Given the description of an element on the screen output the (x, y) to click on. 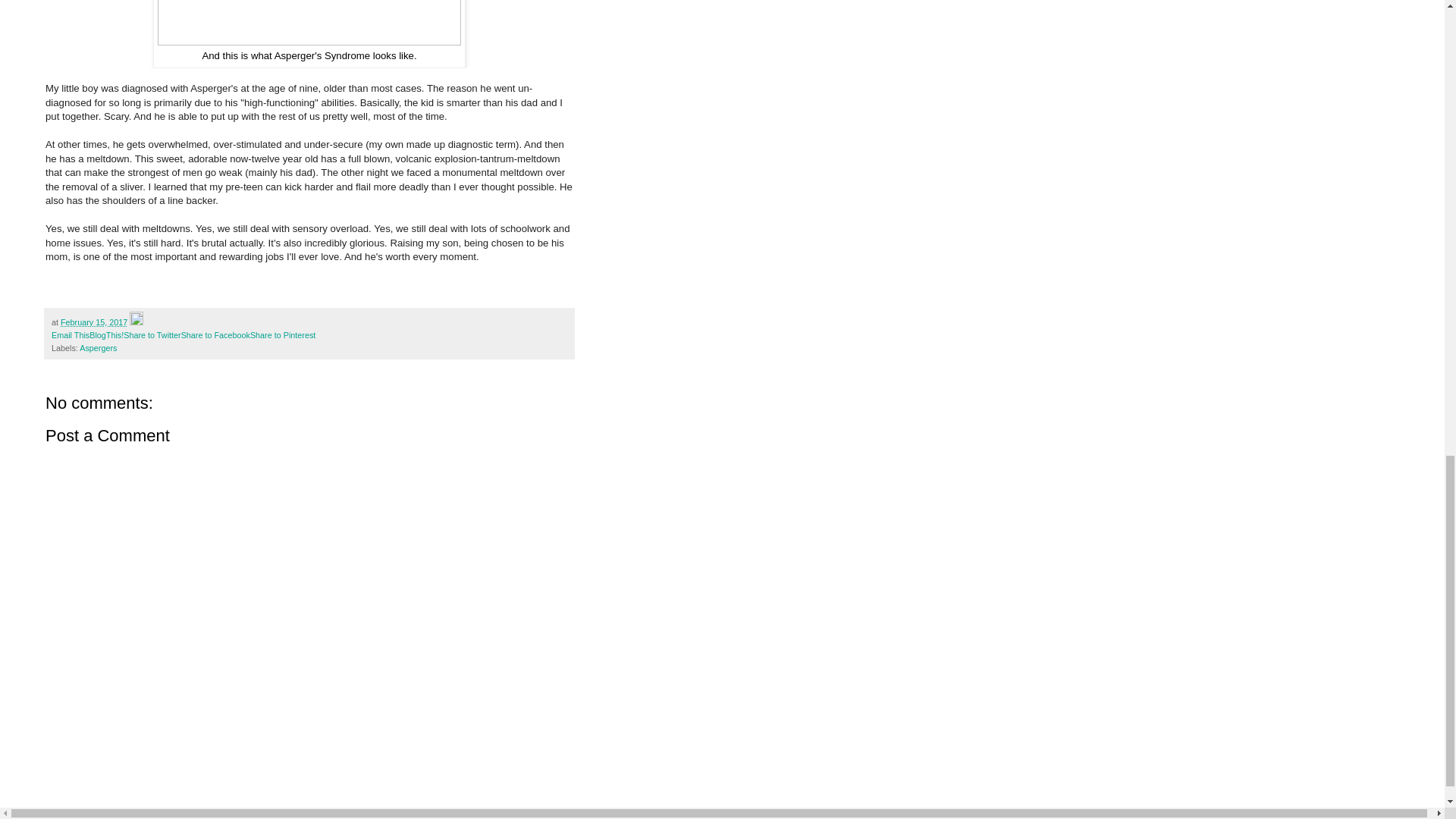
BlogThis! (105, 334)
Share to Twitter (151, 334)
Share to Facebook (215, 334)
Share to Pinterest (282, 334)
Share to Twitter (151, 334)
Edit Post (135, 321)
permanent link (94, 321)
Share to Facebook (215, 334)
Email This (69, 334)
Email This (69, 334)
